Given the description of an element on the screen output the (x, y) to click on. 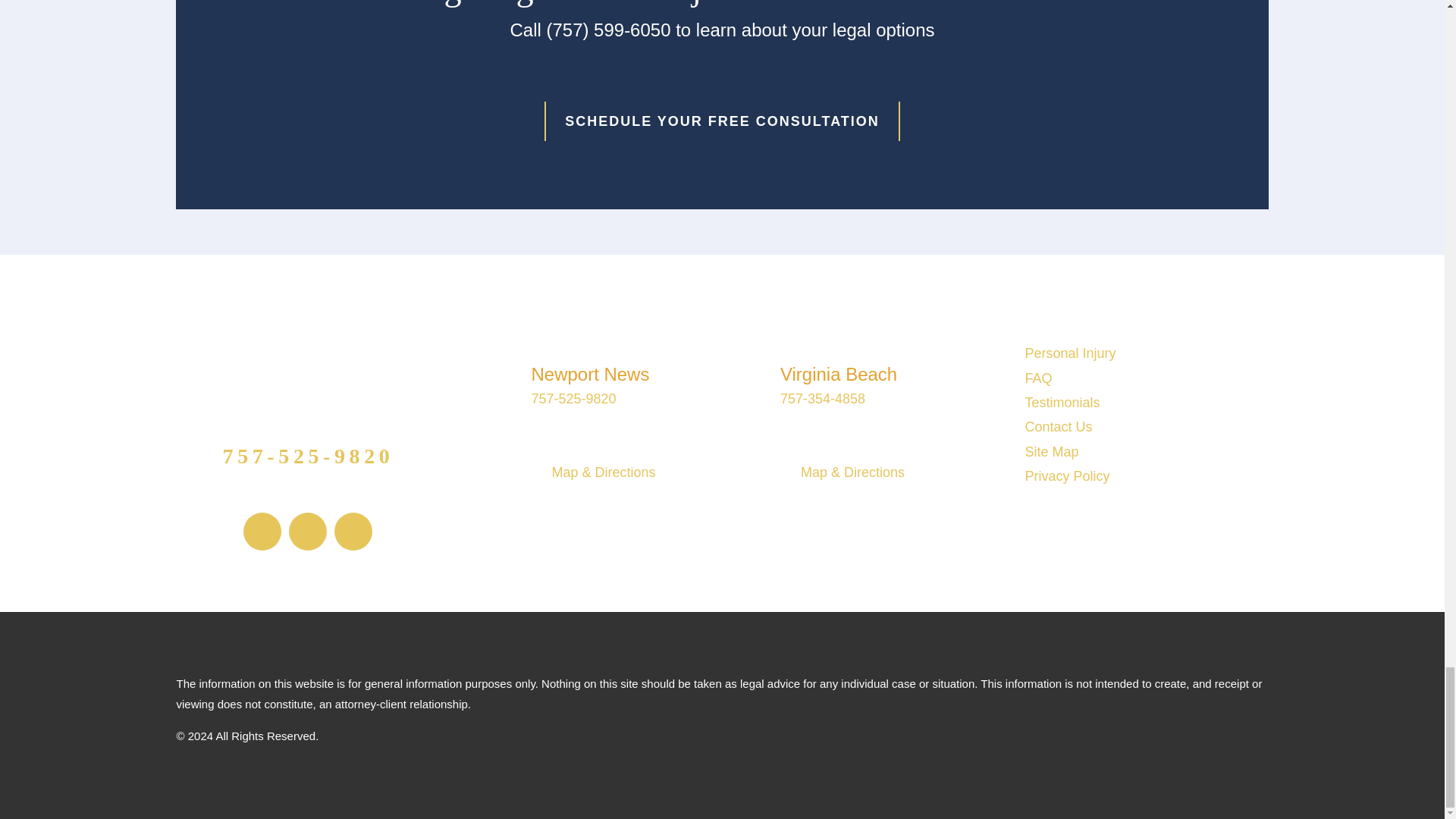
logo (307, 359)
